Given the description of an element on the screen output the (x, y) to click on. 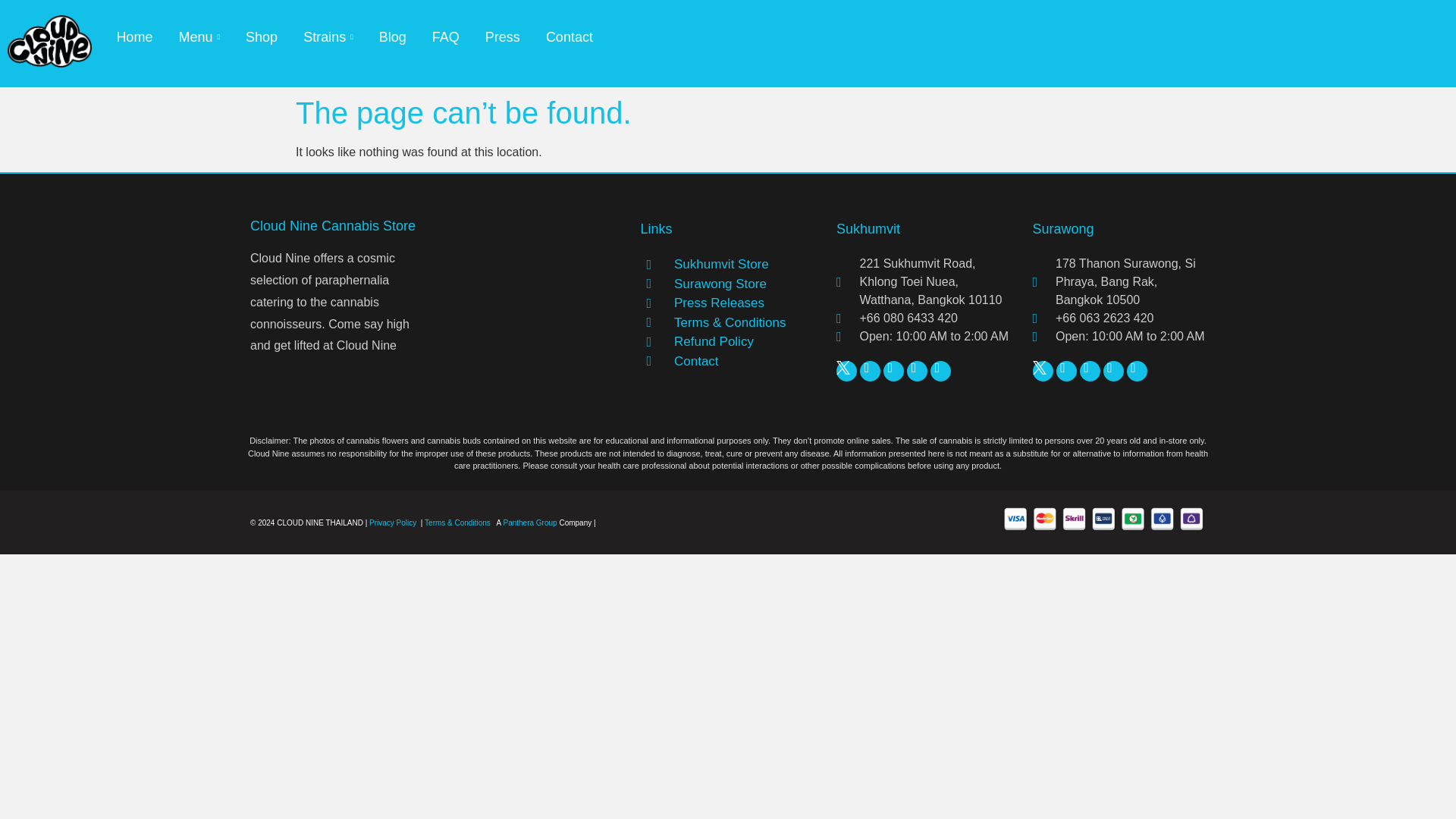
Home (133, 36)
Menu (198, 36)
Shop (260, 36)
Strains (328, 36)
